Given the description of an element on the screen output the (x, y) to click on. 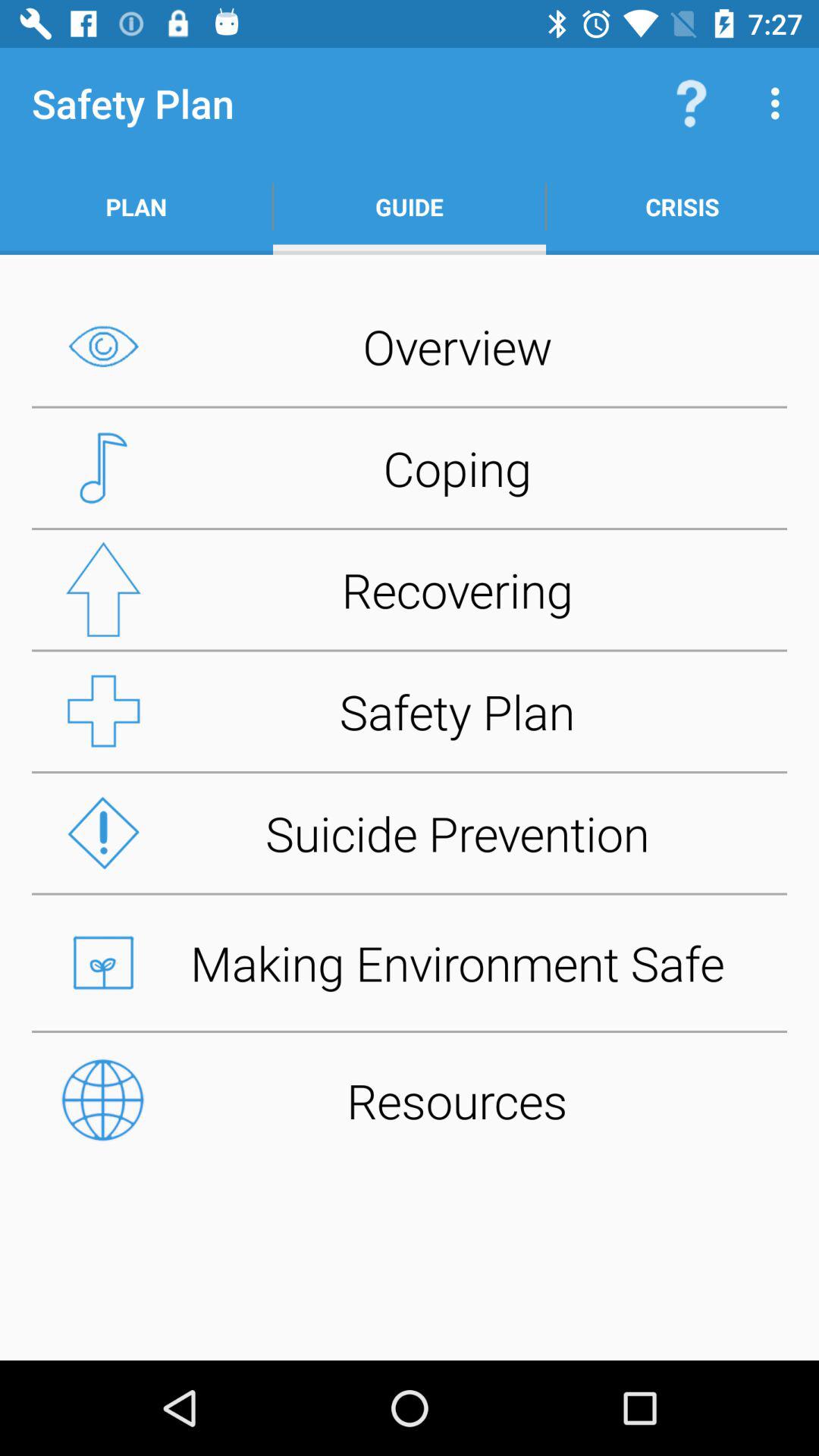
scroll until the making environment safe (409, 962)
